Given the description of an element on the screen output the (x, y) to click on. 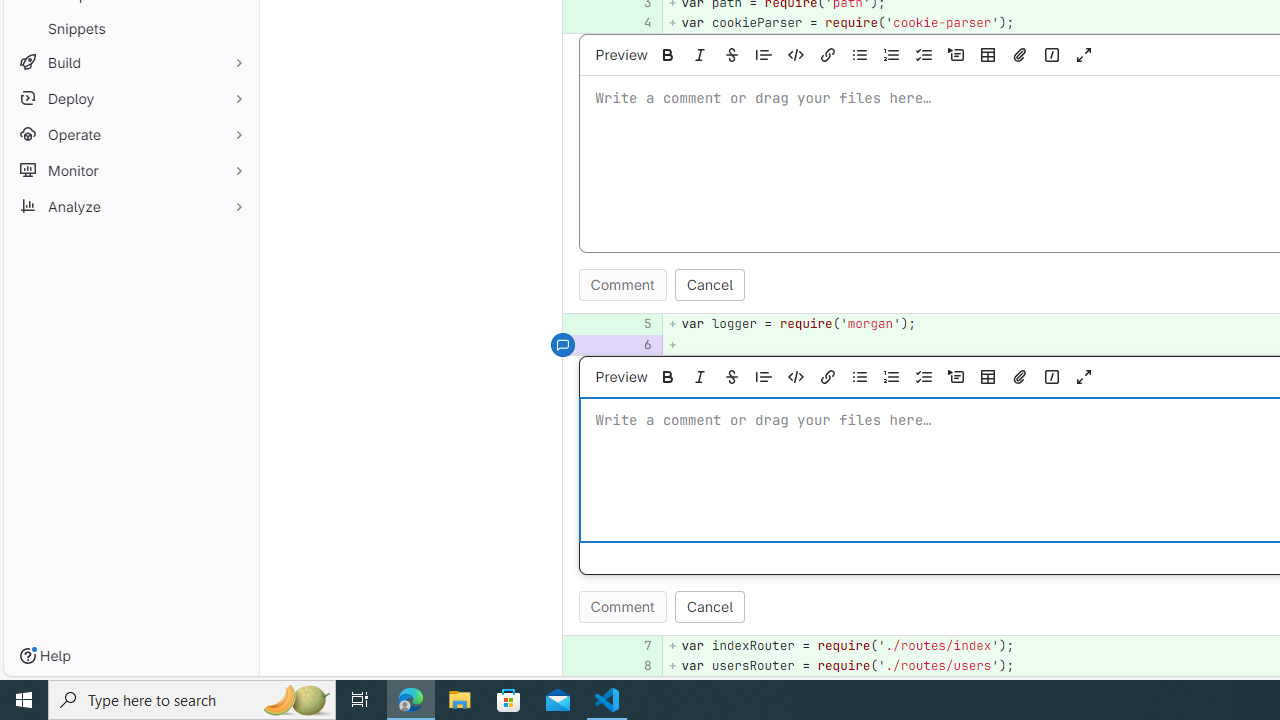
4 (637, 22)
